Given the description of an element on the screen output the (x, y) to click on. 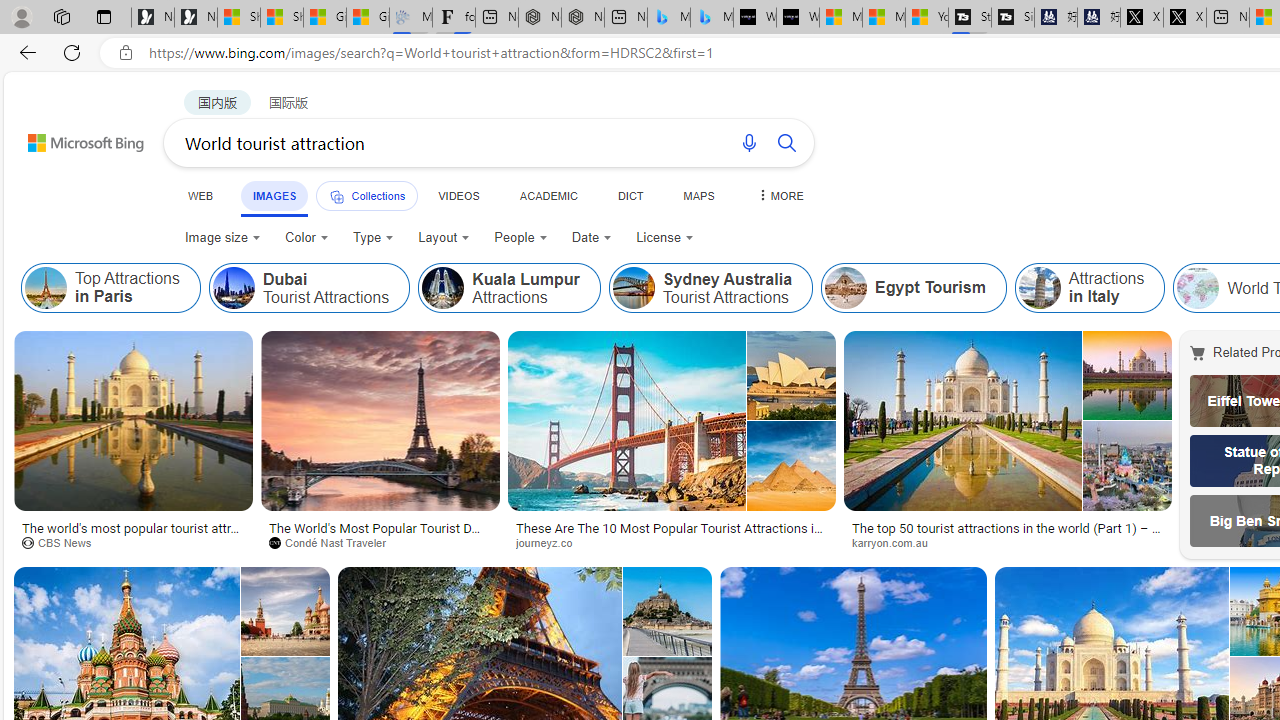
Class: item col (1089, 287)
Top Attractions in Paris (110, 287)
Type (372, 237)
journeyz.co (551, 541)
Date (591, 237)
Search button (786, 142)
Color (305, 237)
Kuala Lumpur Attractions (509, 287)
Layout (443, 237)
Image result for World tourist attraction (1007, 421)
Attractions in Italy (1039, 287)
